Given the description of an element on the screen output the (x, y) to click on. 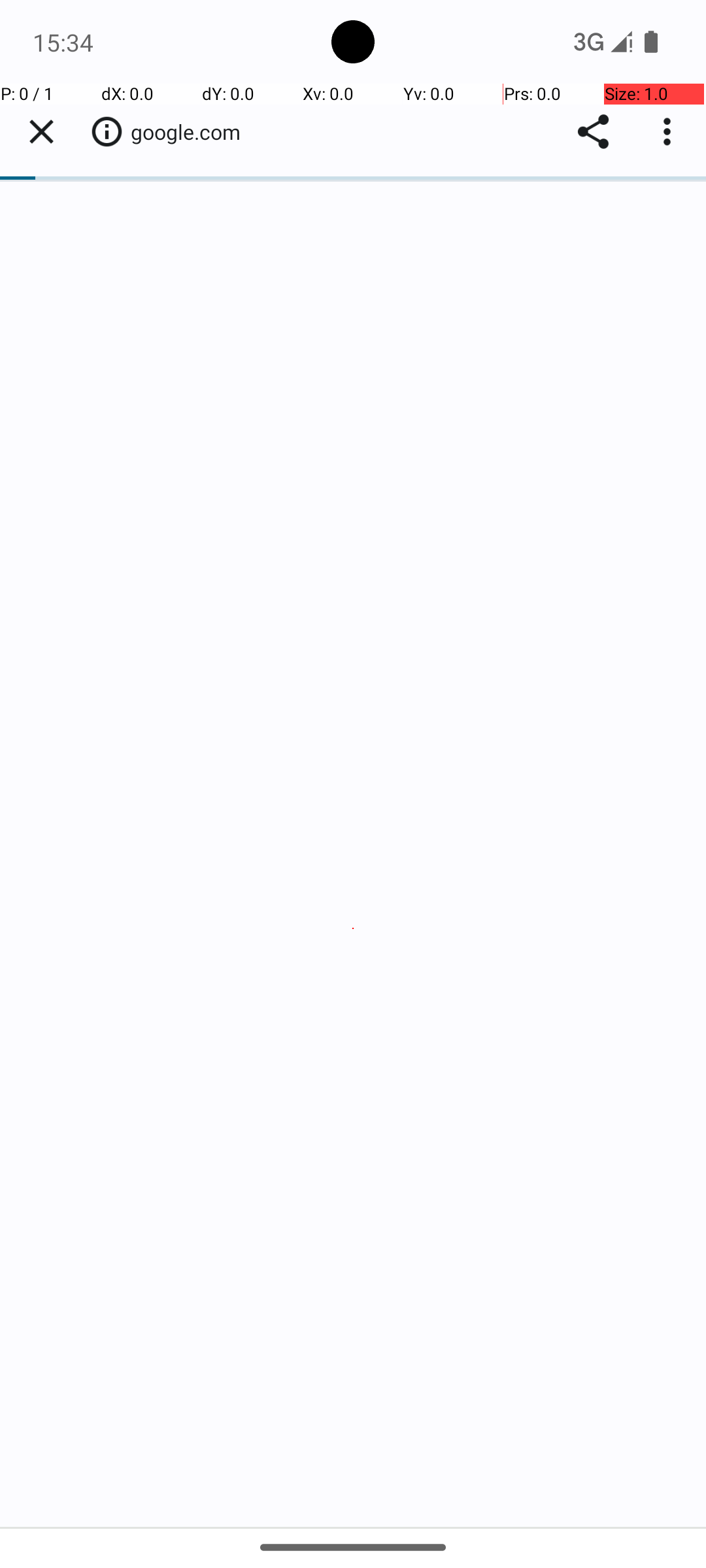
Web View Element type: android.widget.FrameLayout (353, 804)
Close tab Element type: android.widget.ImageButton (41, 131)
Your connection to this site is not secure Element type: android.widget.ImageButton (106, 131)
Share Element type: android.widget.ImageButton (593, 131)
google.com Element type: android.widget.TextView (192, 131)
